Given the description of an element on the screen output the (x, y) to click on. 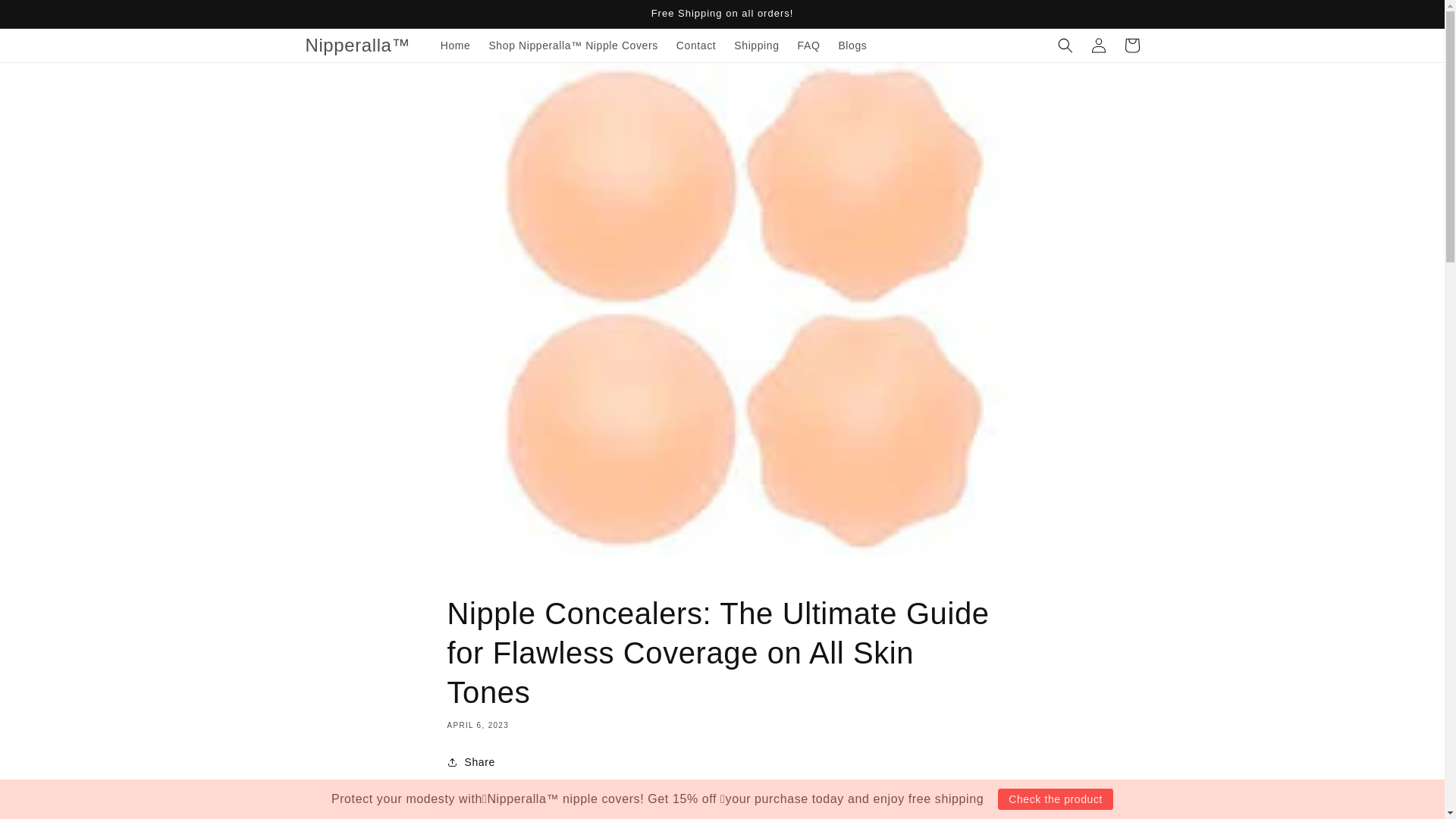
Cart (1131, 45)
Contact (695, 45)
Home (455, 45)
Check the product (1055, 798)
Log in (1098, 45)
Skip to content (45, 17)
FAQ (809, 45)
Blogs (852, 45)
Shipping (756, 45)
